Given the description of an element on the screen output the (x, y) to click on. 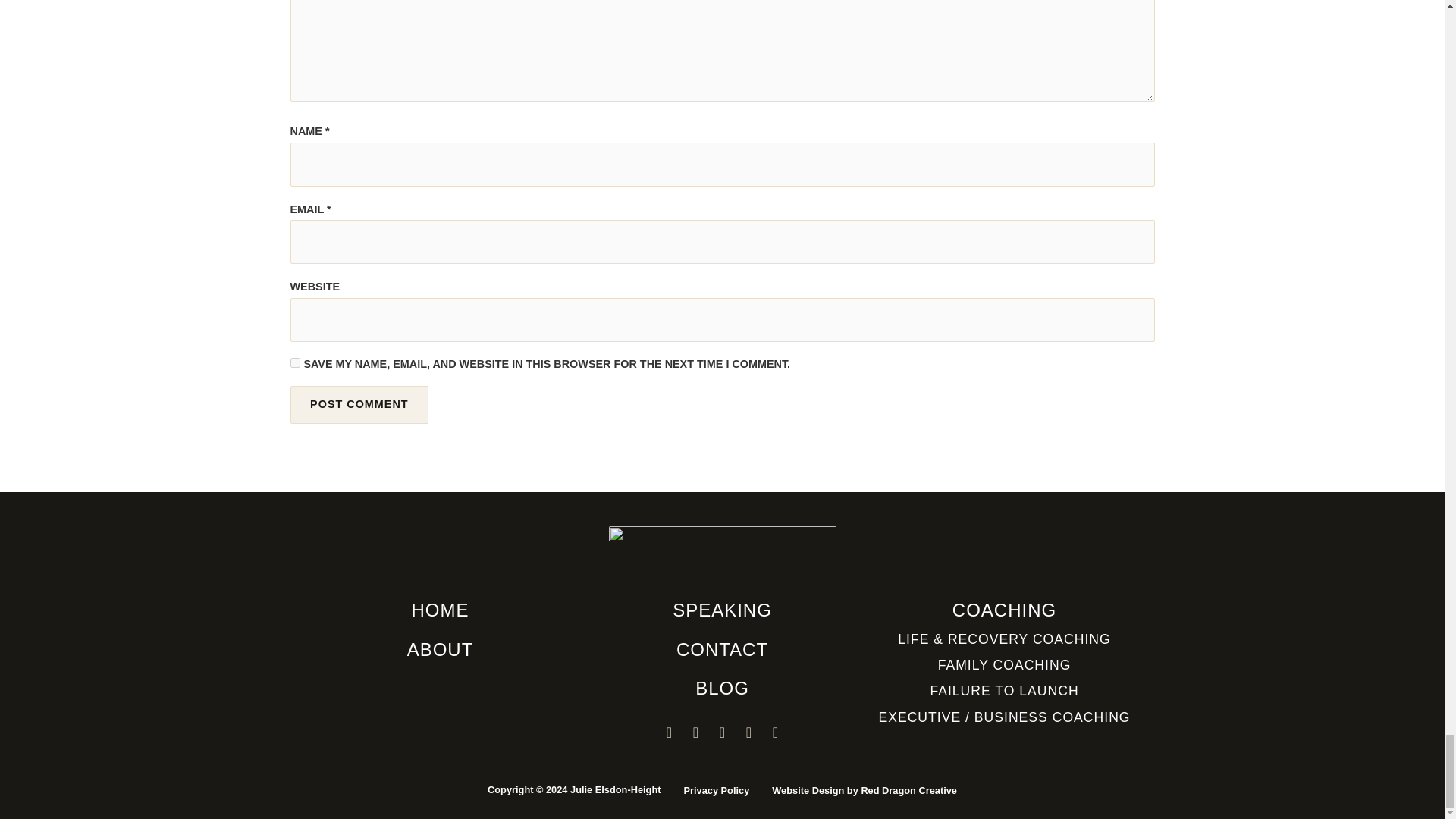
yes (294, 362)
Post Comment (358, 404)
